Given the description of an element on the screen output the (x, y) to click on. 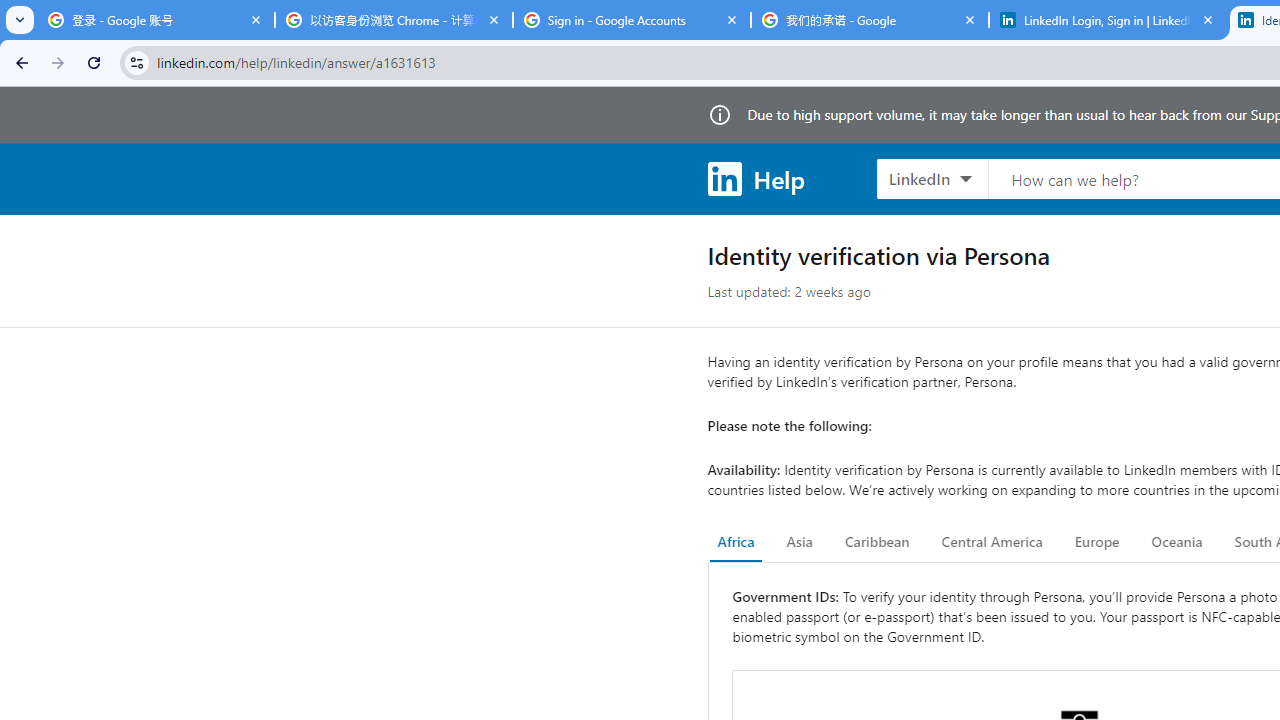
Sign in - Google Accounts (632, 20)
LinkedIn Login, Sign in | LinkedIn (1108, 20)
Europe (1096, 542)
Caribbean (876, 542)
LinkedIn products to search, LinkedIn selected (932, 178)
Asia (799, 542)
